Given the description of an element on the screen output the (x, y) to click on. 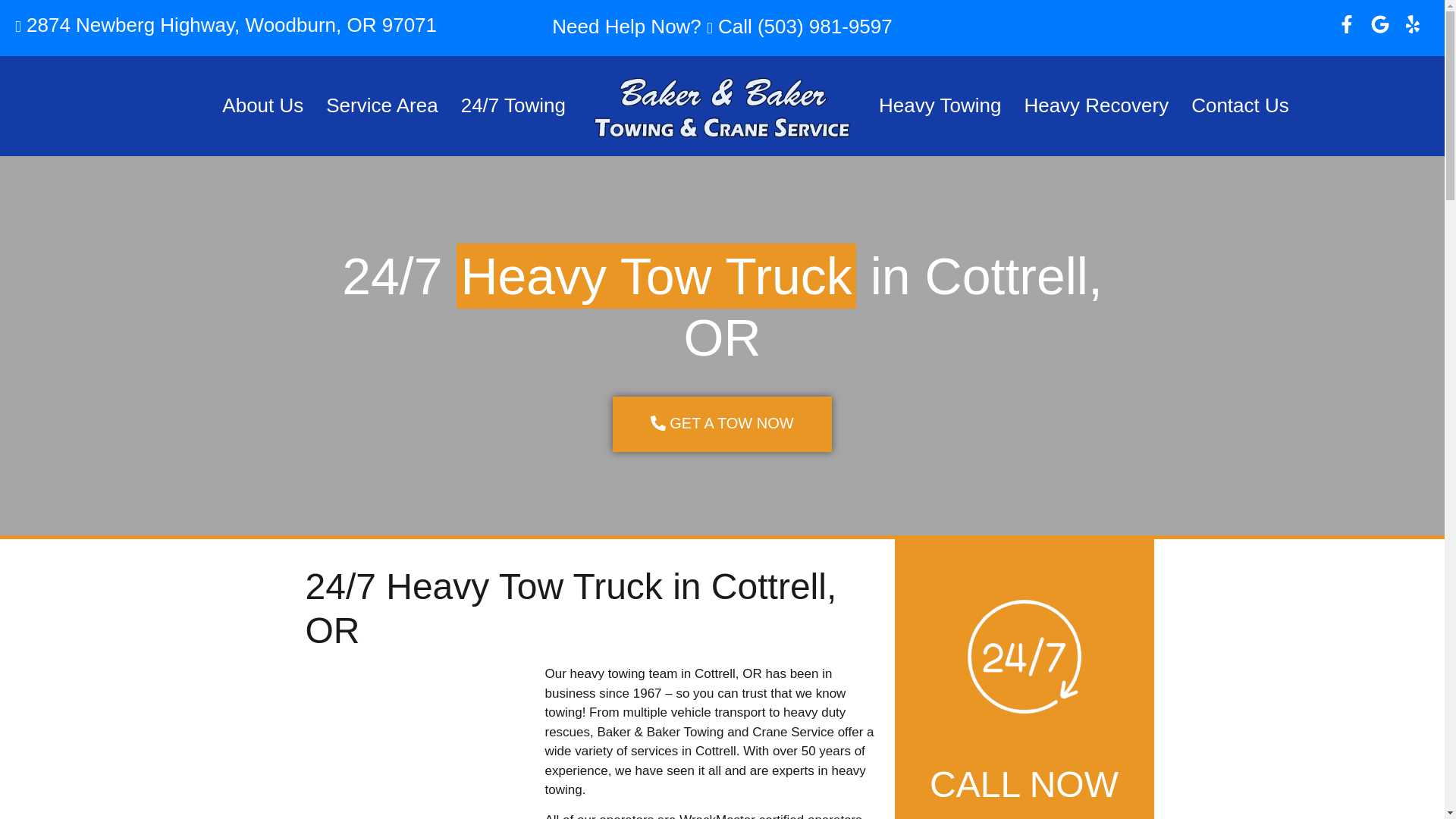
Heavy Towing (939, 105)
Service Area (381, 105)
Need Help Now? Call (654, 26)
Heavy Recovery (1095, 105)
About Us (262, 105)
